Given the description of an element on the screen output the (x, y) to click on. 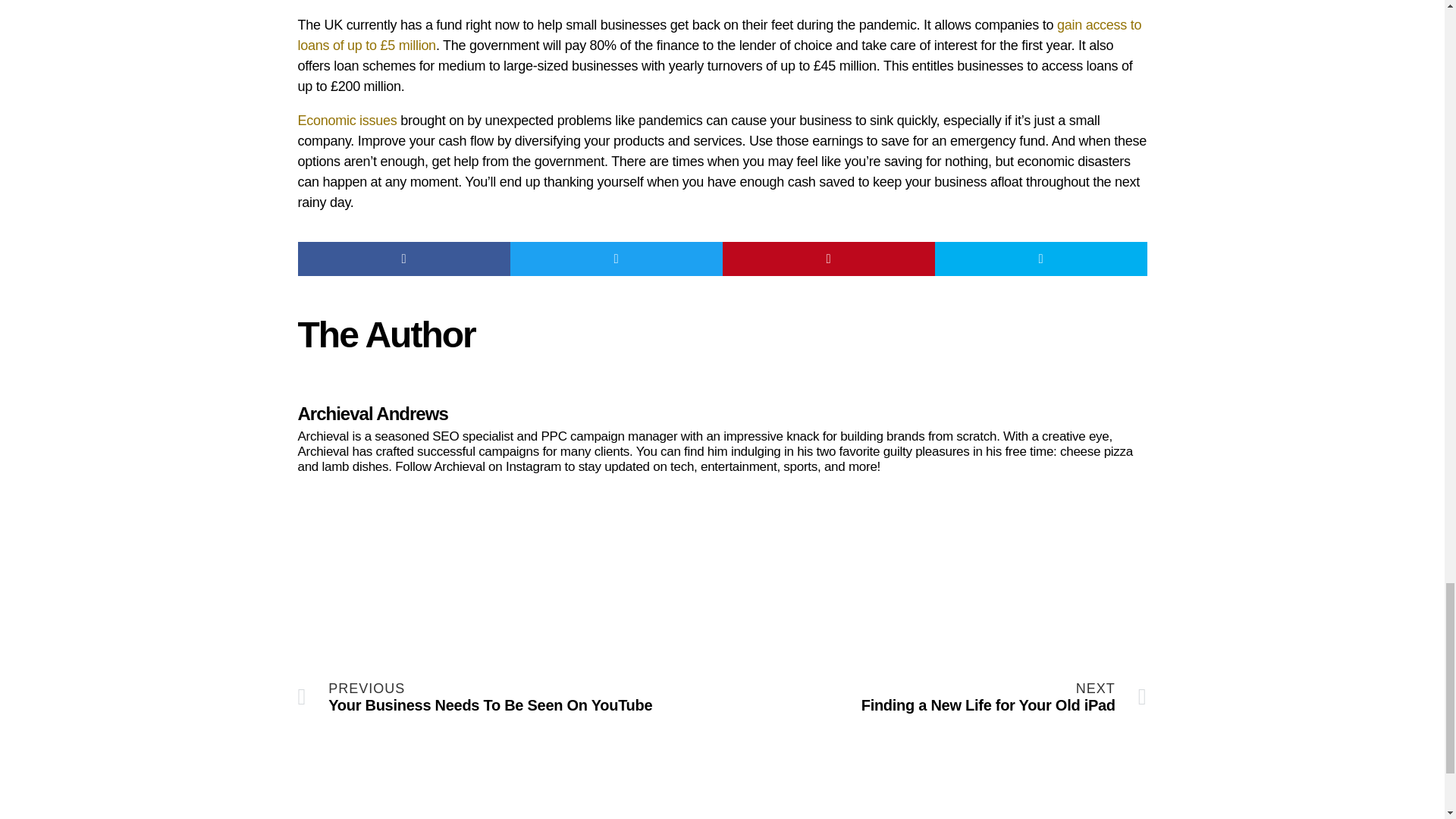
Economic issues (346, 120)
